Given the description of an element on the screen output the (x, y) to click on. 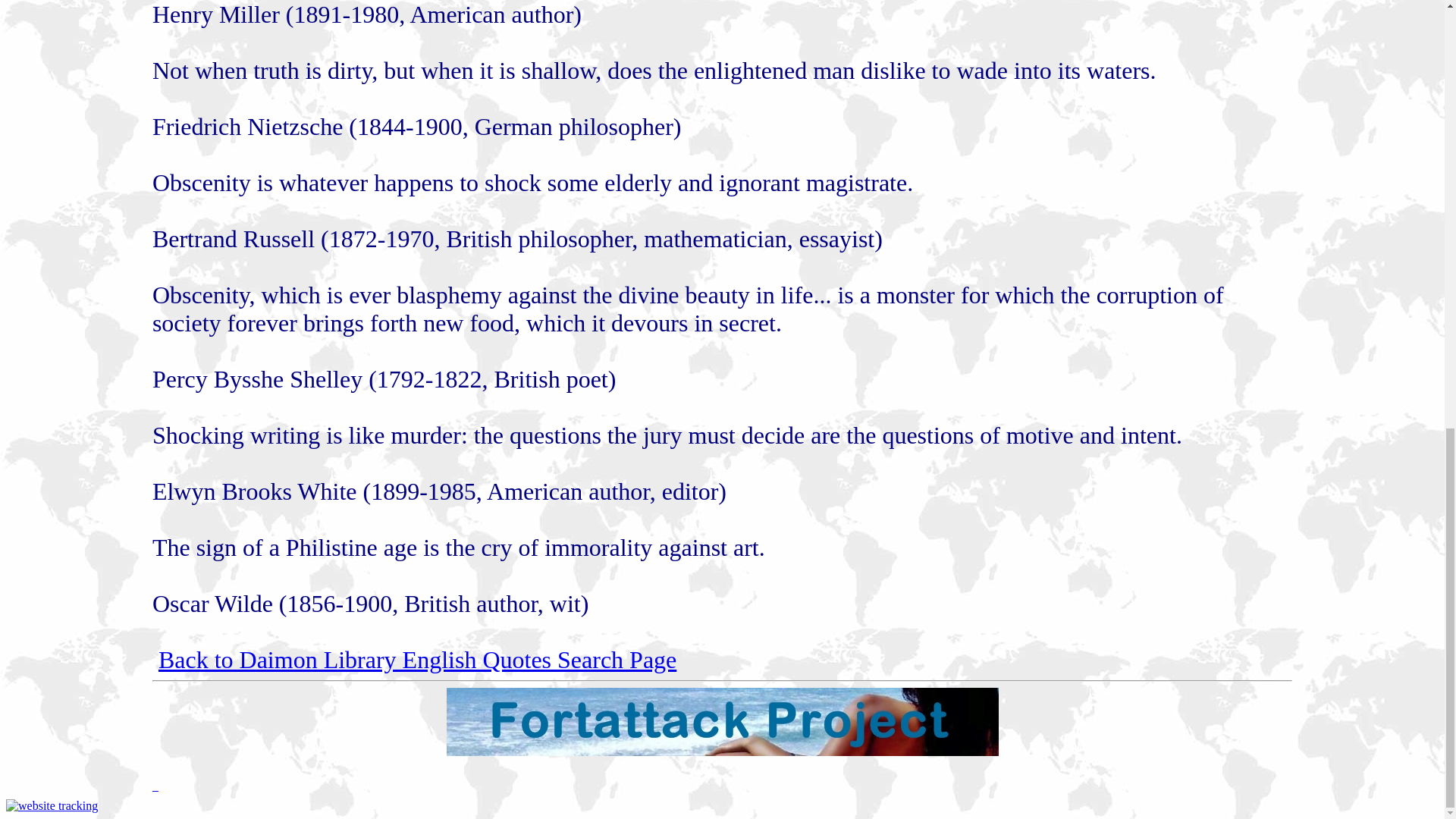
Back to Daimon Library English Quotes Search Page (417, 659)
Fort attack blog project (721, 751)
